Given the description of an element on the screen output the (x, y) to click on. 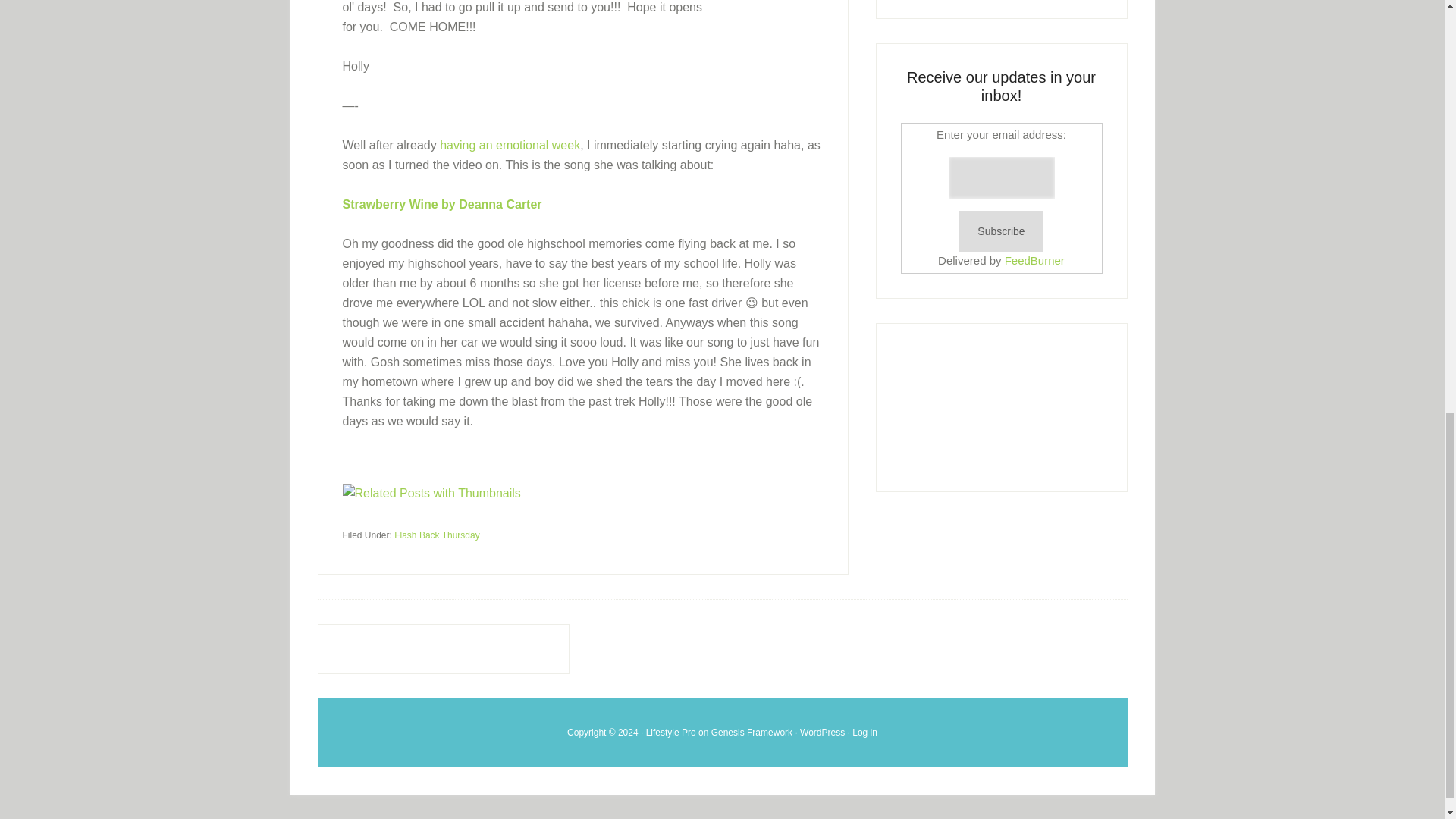
Genesis Framework (751, 731)
Flash Back Thursday (437, 534)
Log in (864, 731)
Lifestyle Pro (670, 731)
WordPress (821, 731)
Subscribe (1000, 231)
Subscribe (1000, 231)
Strawberry Wine by Deanna Carter (441, 204)
having an emotional week (509, 144)
FeedBurner (1034, 259)
